Given the description of an element on the screen output the (x, y) to click on. 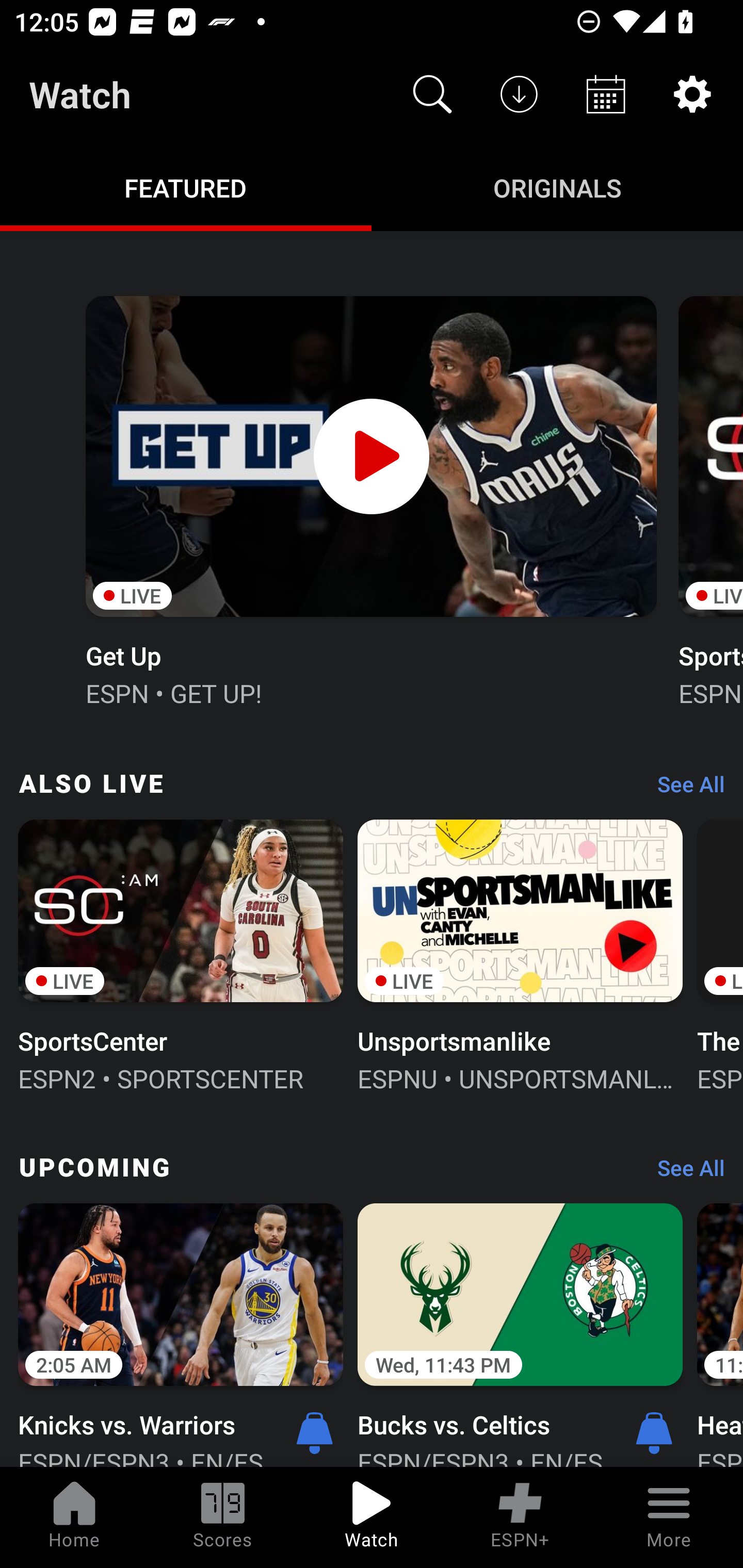
Search (432, 93)
Downloads (518, 93)
Schedule (605, 93)
Settings (692, 93)
Originals ORIGINALS (557, 187)
 LIVE Get Up ESPN • GET UP! (370, 499)
See All (683, 788)
LIVE SportsCenter ESPN2 • SPORTSCENTER (180, 954)
See All (683, 1172)
Home (74, 1517)
Scores (222, 1517)
ESPN+ (519, 1517)
More (668, 1517)
